Given the description of an element on the screen output the (x, y) to click on. 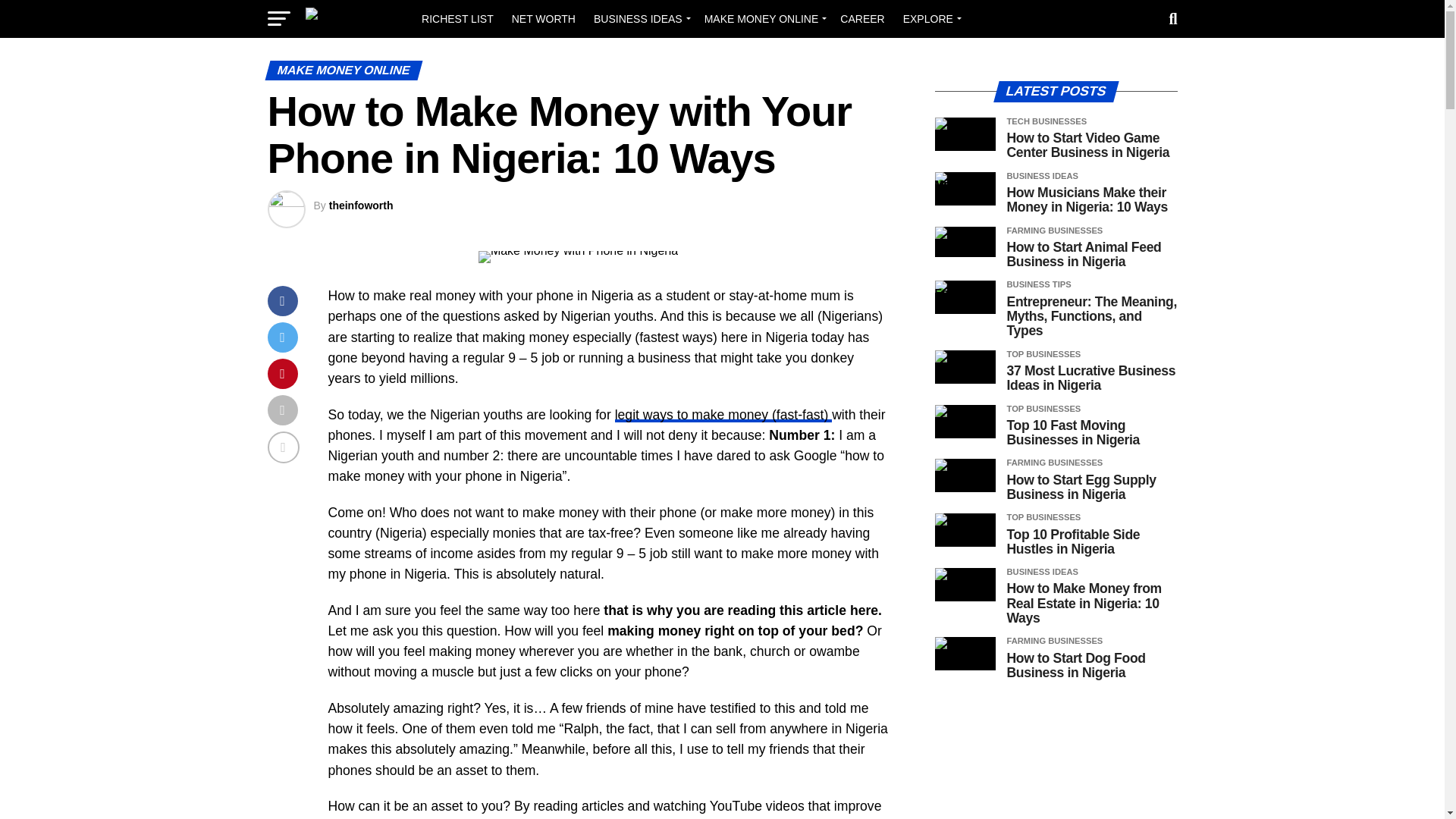
RICHEST LIST (457, 18)
Posts by theinfoworth (361, 205)
NET WORTH (543, 18)
BUSINESS IDEAS (640, 18)
